Given the description of an element on the screen output the (x, y) to click on. 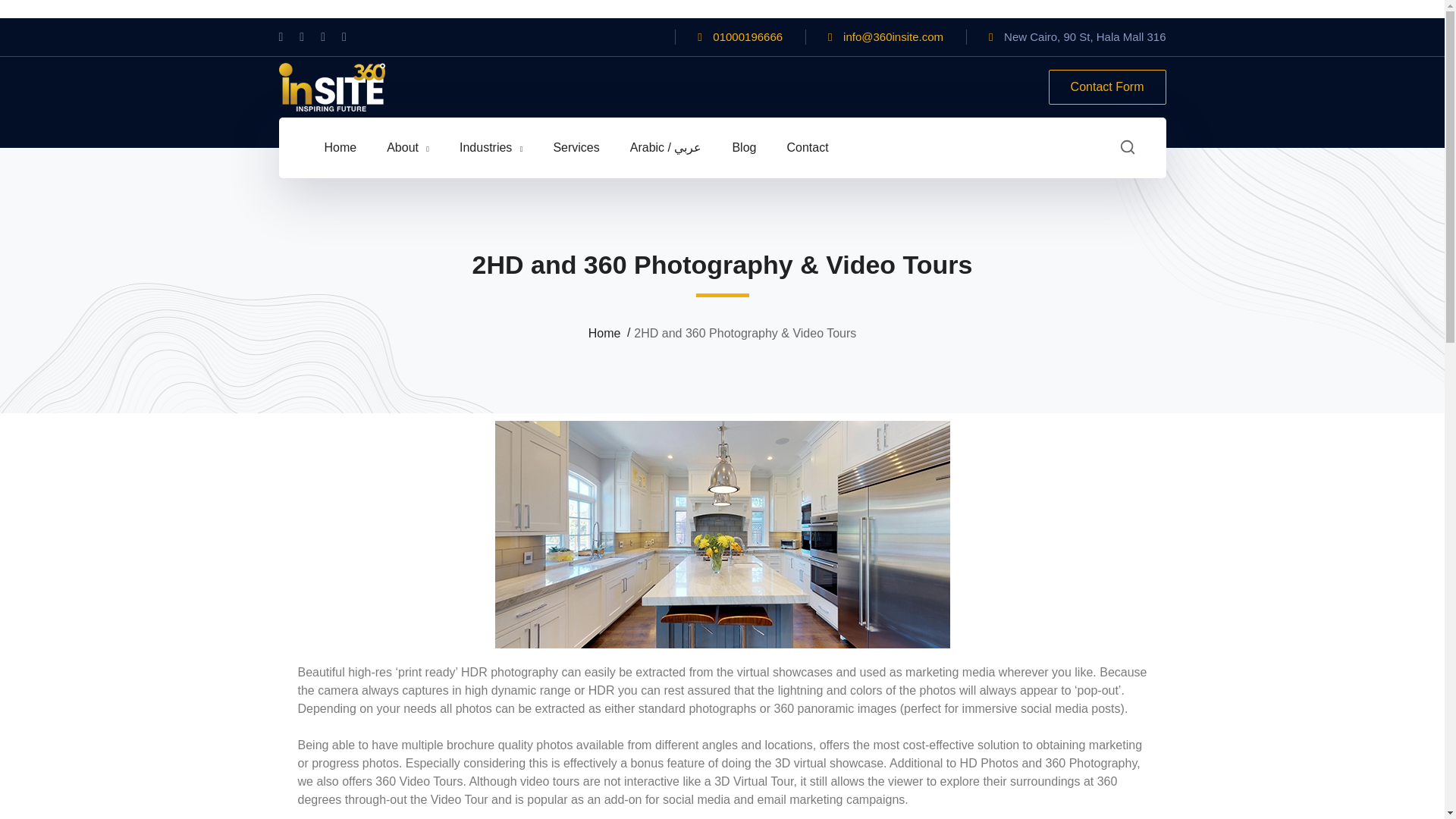
Industries (491, 147)
01000196666 (748, 36)
Home (611, 333)
Contact Form (1107, 86)
